Given the description of an element on the screen output the (x, y) to click on. 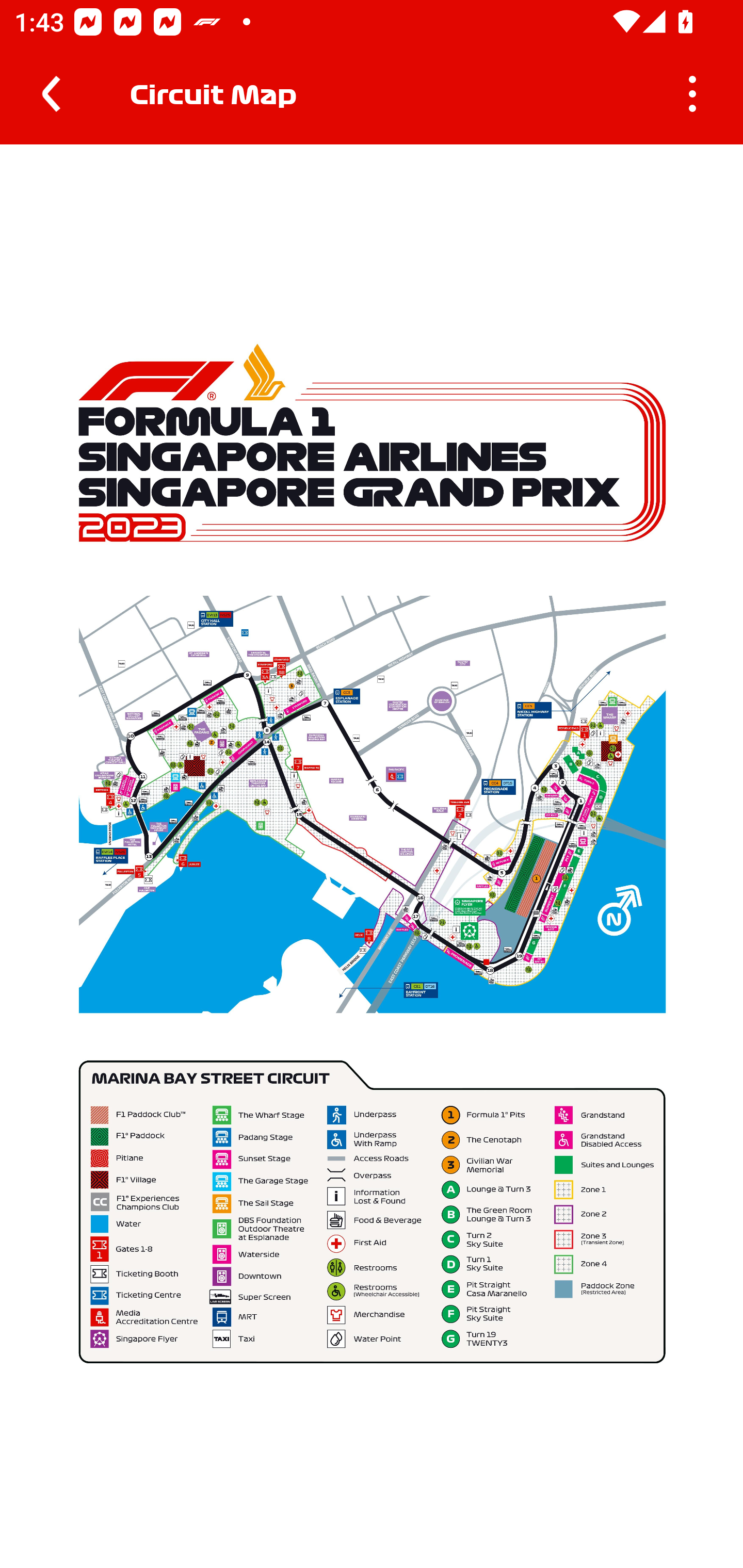
Navigate up (50, 93)
